Given the description of an element on the screen output the (x, y) to click on. 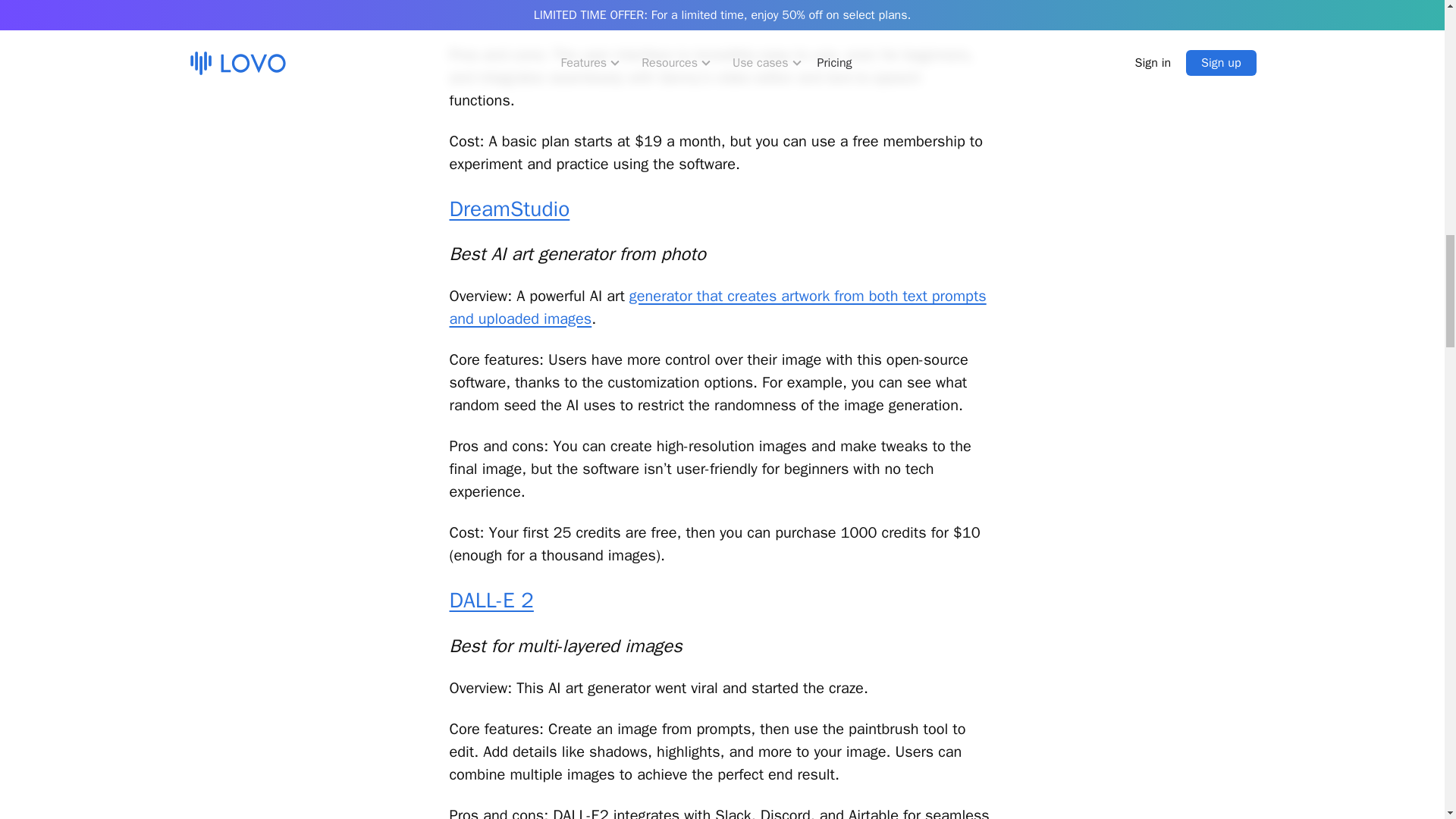
DALL-E 2 (490, 600)
DreamStudio (508, 208)
